Given the description of an element on the screen output the (x, y) to click on. 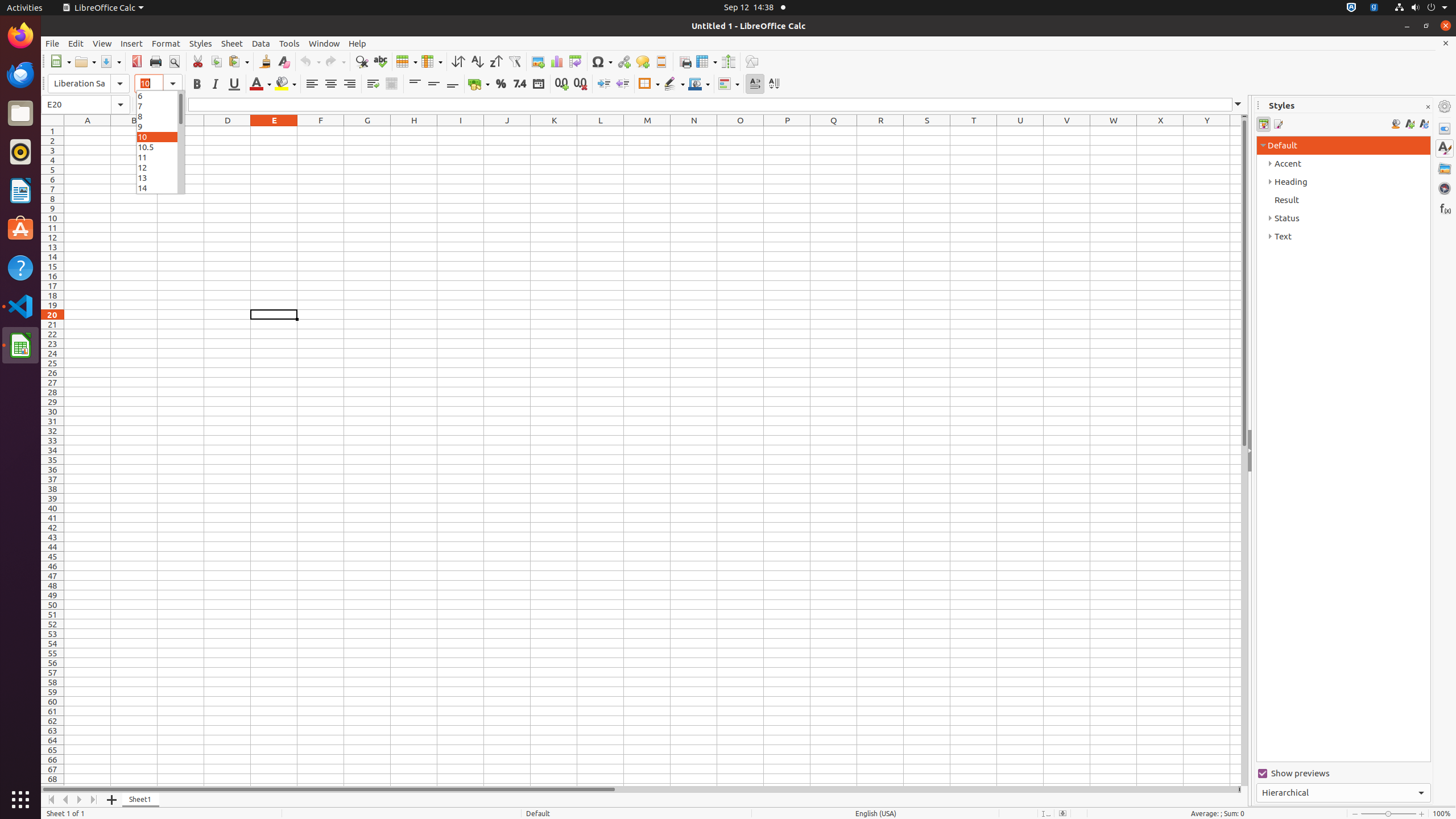
14 Element type: list-item (160, 187)
Chart Element type: push-button (556, 61)
Hyperlink Element type: toggle-button (623, 61)
Percent Element type: push-button (500, 83)
H1 Element type: table-cell (413, 130)
